Given the description of an element on the screen output the (x, y) to click on. 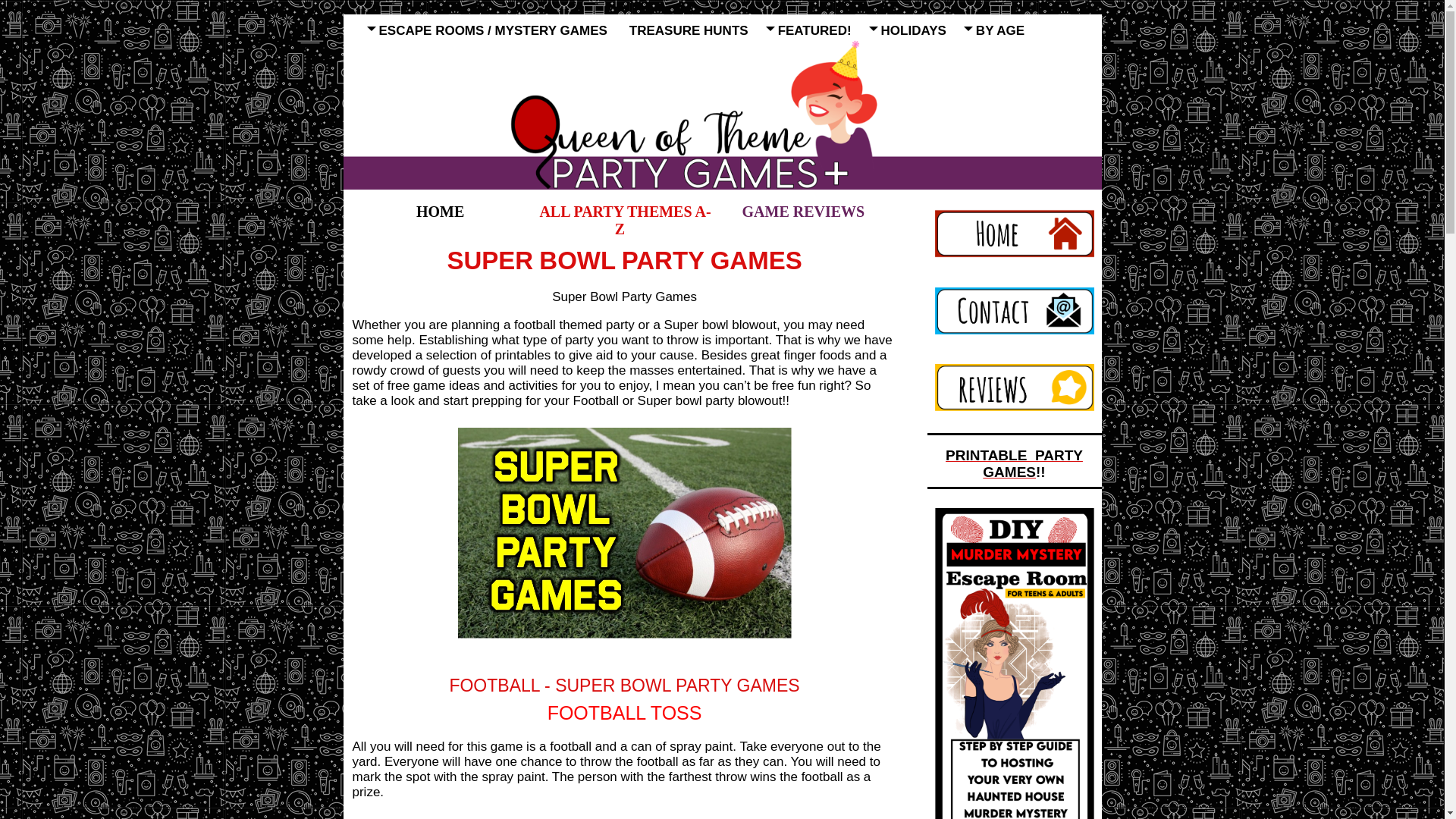
TREASURE HUNTS (693, 27)
Go to Contact-Us (1013, 337)
